Given the description of an element on the screen output the (x, y) to click on. 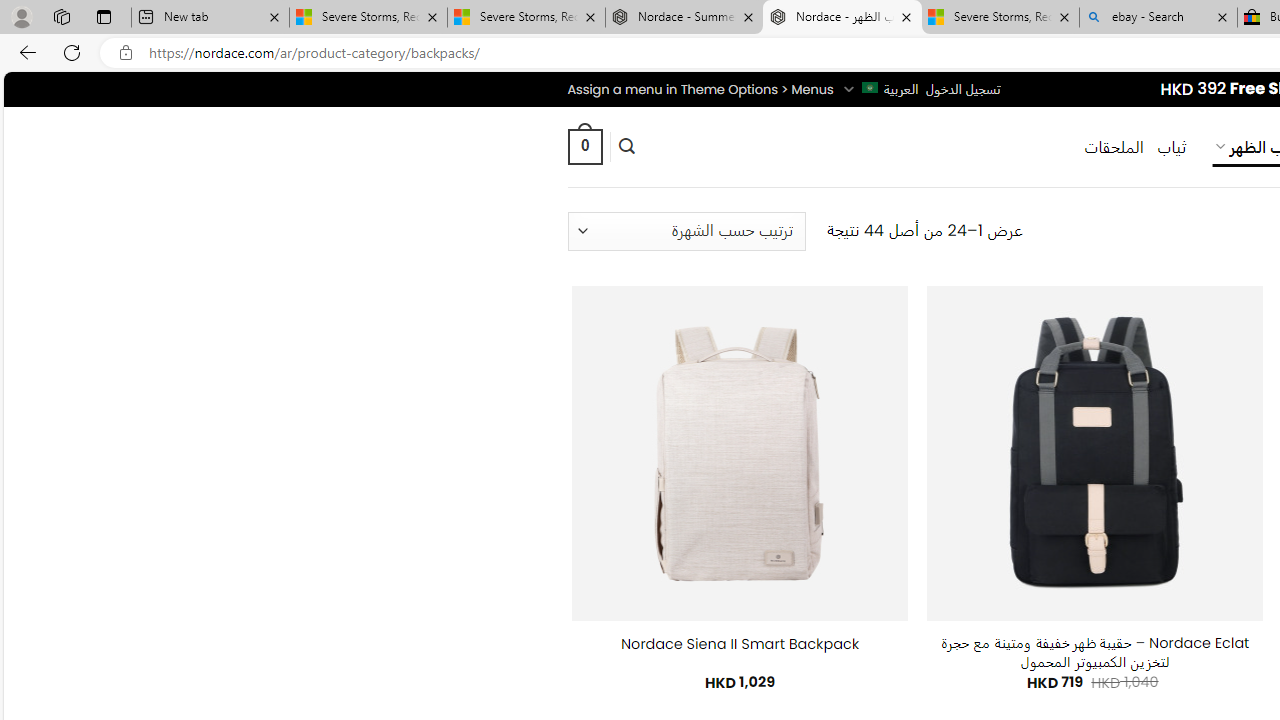
Assign a menu in Theme Options > Menus (700, 89)
Assign a menu in Theme Options > Menus (700, 89)
ebay - Search (1158, 17)
